Given the description of an element on the screen output the (x, y) to click on. 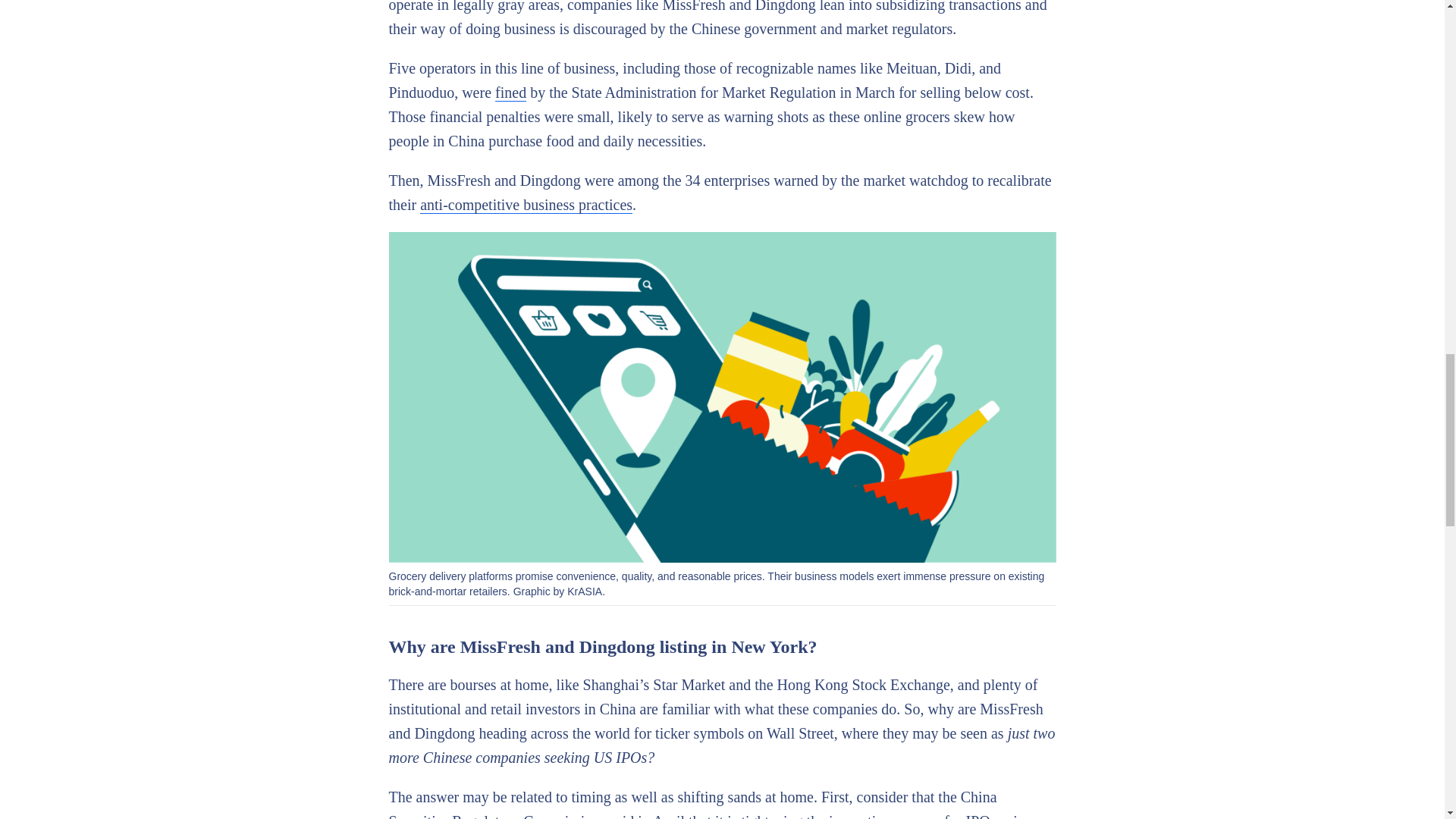
tightening the inspection process (840, 816)
anti-competitive business practices (525, 204)
fined (510, 92)
